Given the description of an element on the screen output the (x, y) to click on. 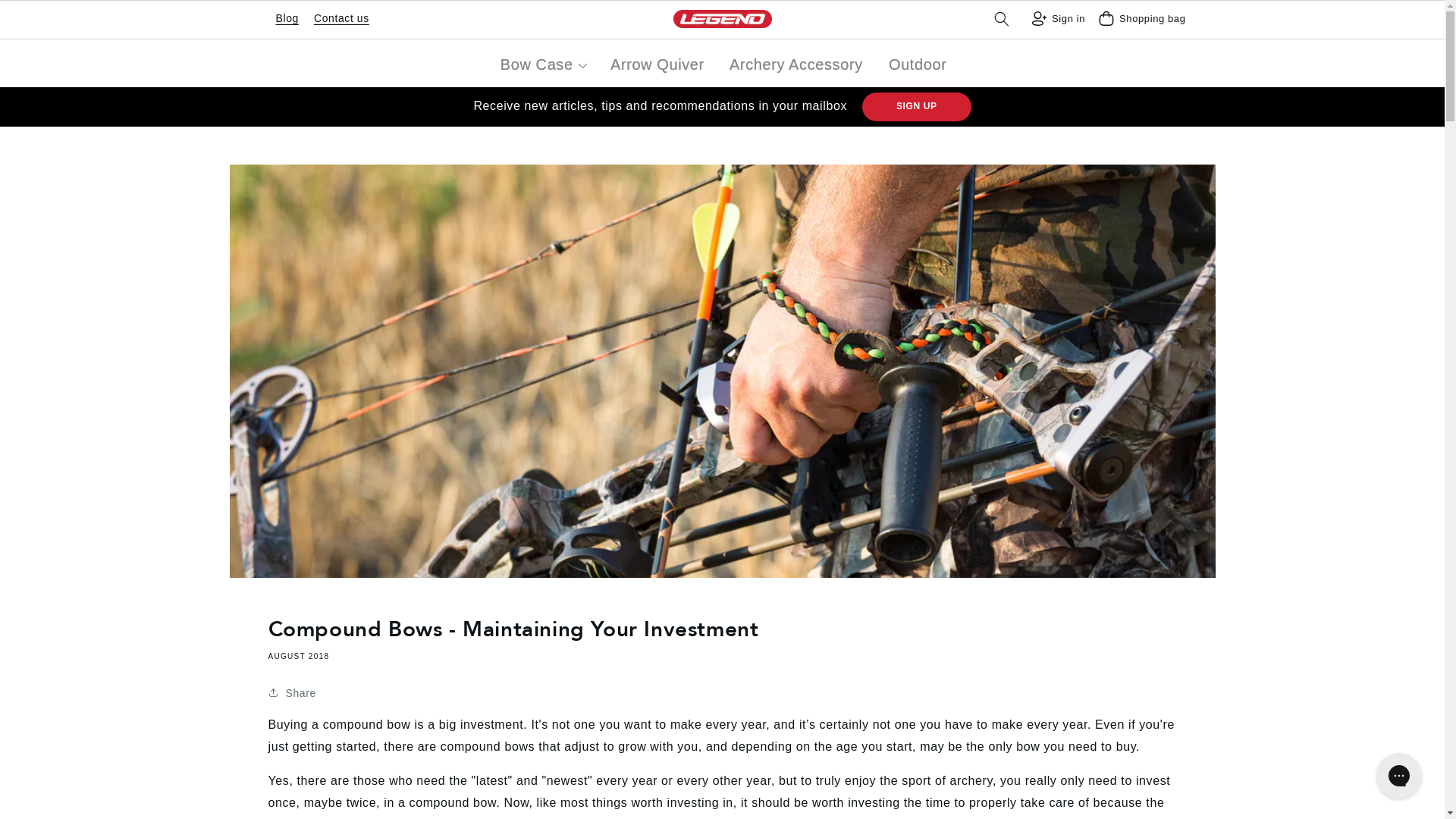
SKIP TO CONTENT (85, 18)
Contact us (341, 17)
Gorgias live chat messenger (1398, 775)
